Given the description of an element on the screen output the (x, y) to click on. 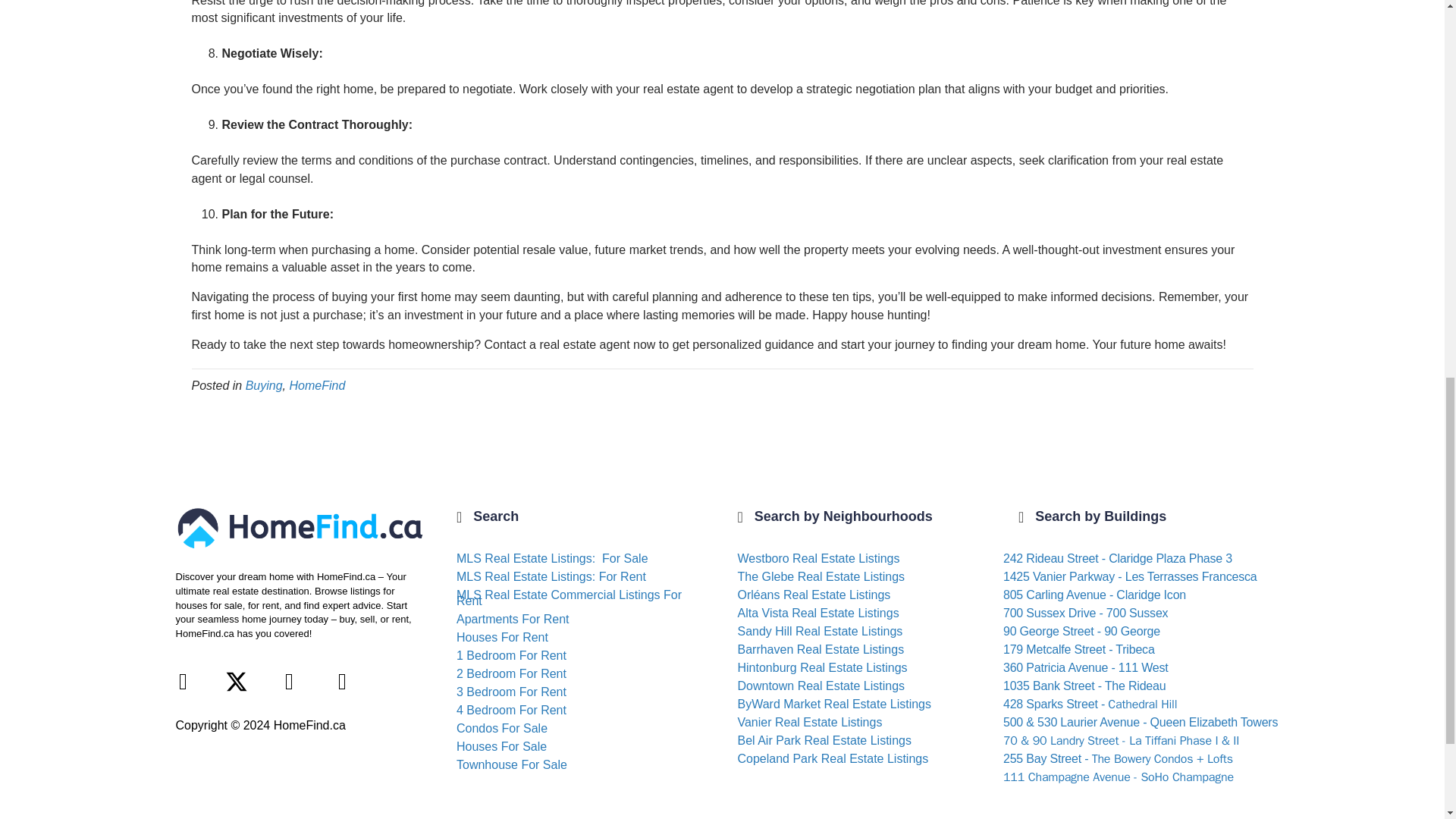
Buying (264, 385)
Facebook (183, 681)
LinkedIn (289, 681)
122-homefind.ca-logo (301, 527)
MLS Real Estate Listings:  For Sale (552, 558)
MLS Real Estate Listings: For Rent (551, 576)
HomeFind (316, 385)
Instagram (342, 681)
